Given the description of an element on the screen output the (x, y) to click on. 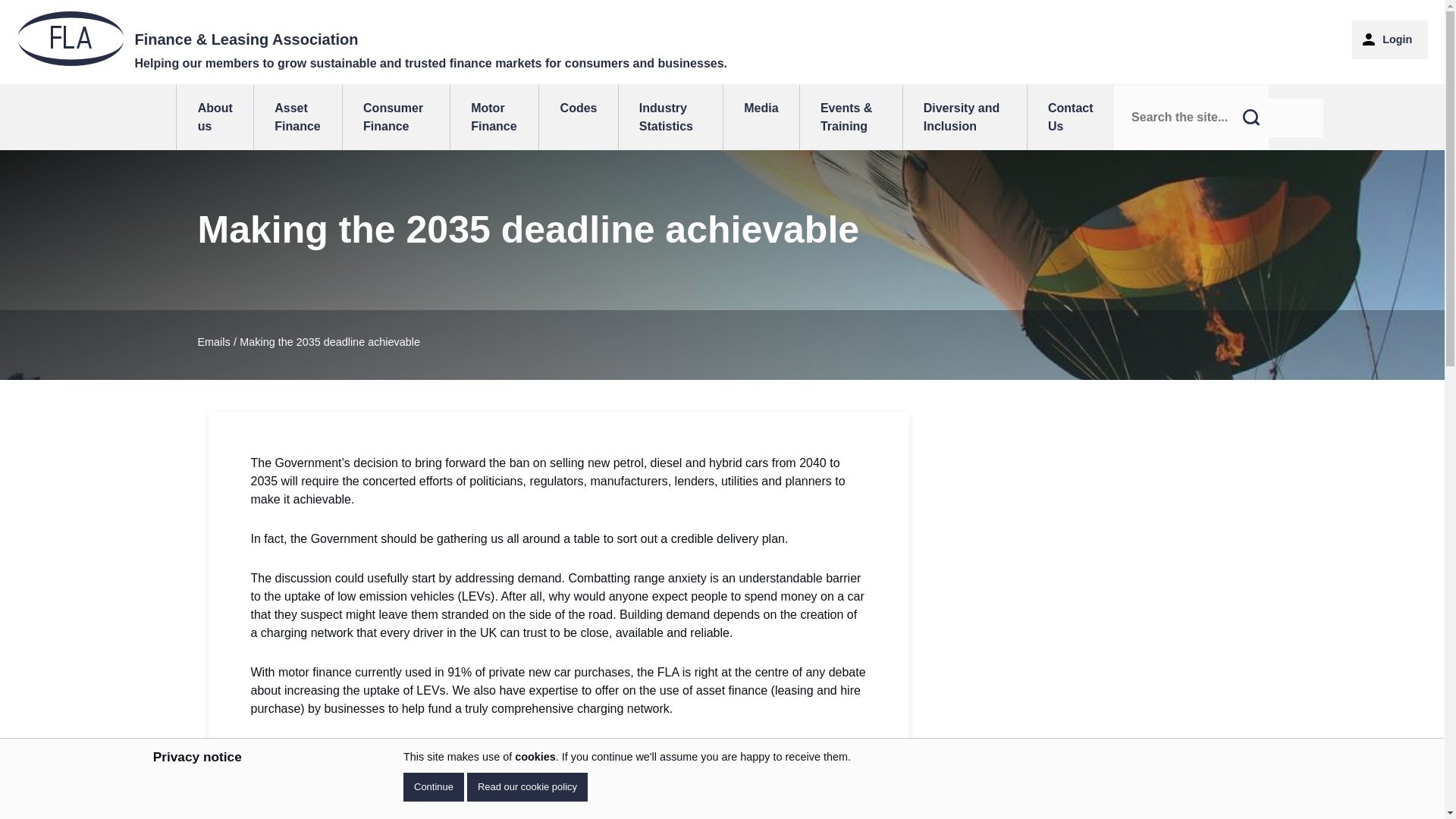
Read our cookie policy (527, 787)
Consumer Finance (395, 117)
Motor Finance (493, 117)
Login (1389, 39)
Industry Statistics (669, 117)
Continue (433, 787)
Asset Finance (297, 117)
Codes (577, 117)
Login (1389, 39)
Home (371, 42)
About us (214, 117)
